Given the description of an element on the screen output the (x, y) to click on. 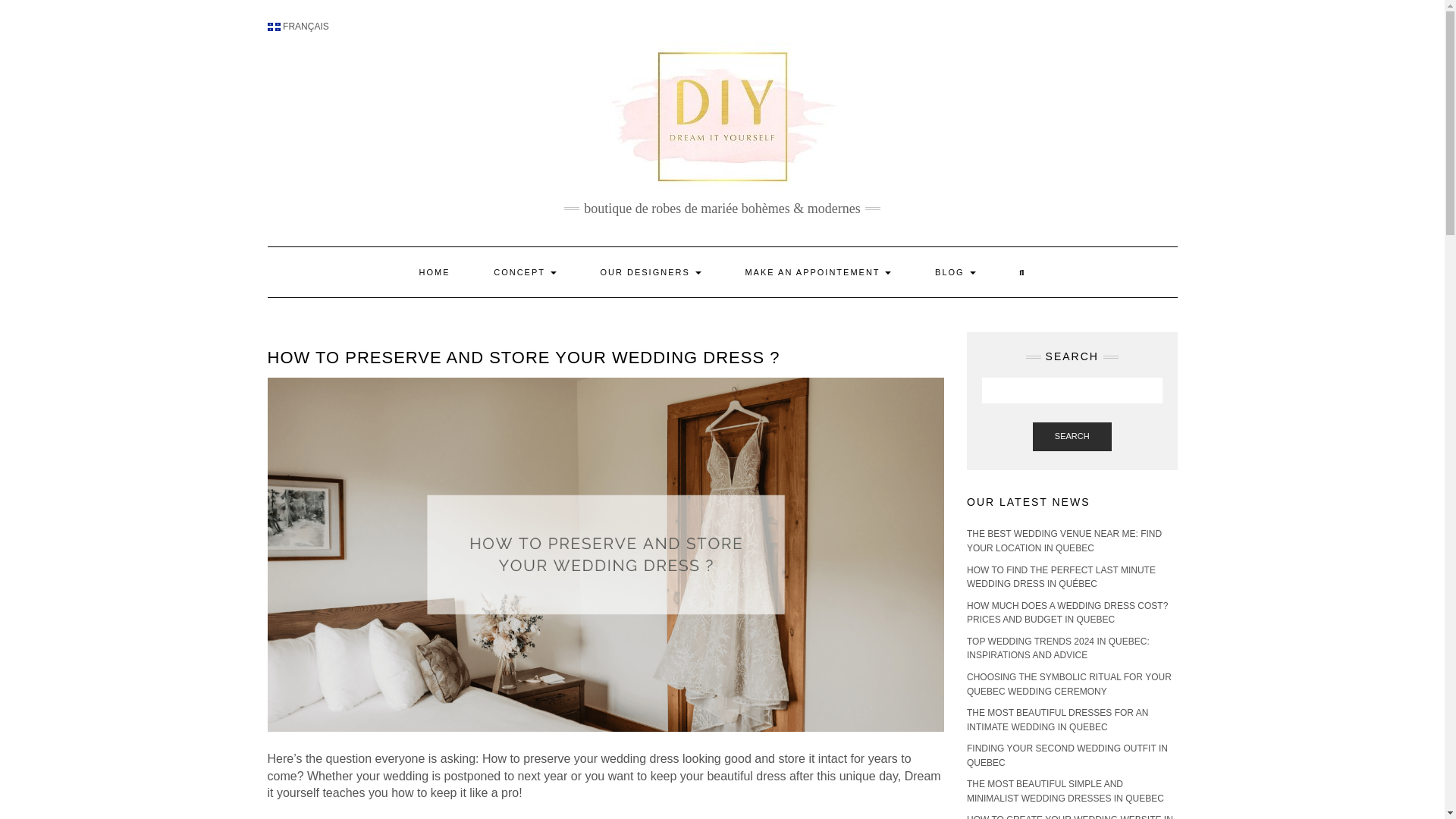
HOME (434, 272)
BLOG (954, 272)
CONCEPT (524, 272)
OUR DESIGNERS (649, 272)
MAKE AN APPOINTEMENT (817, 272)
